Given the description of an element on the screen output the (x, y) to click on. 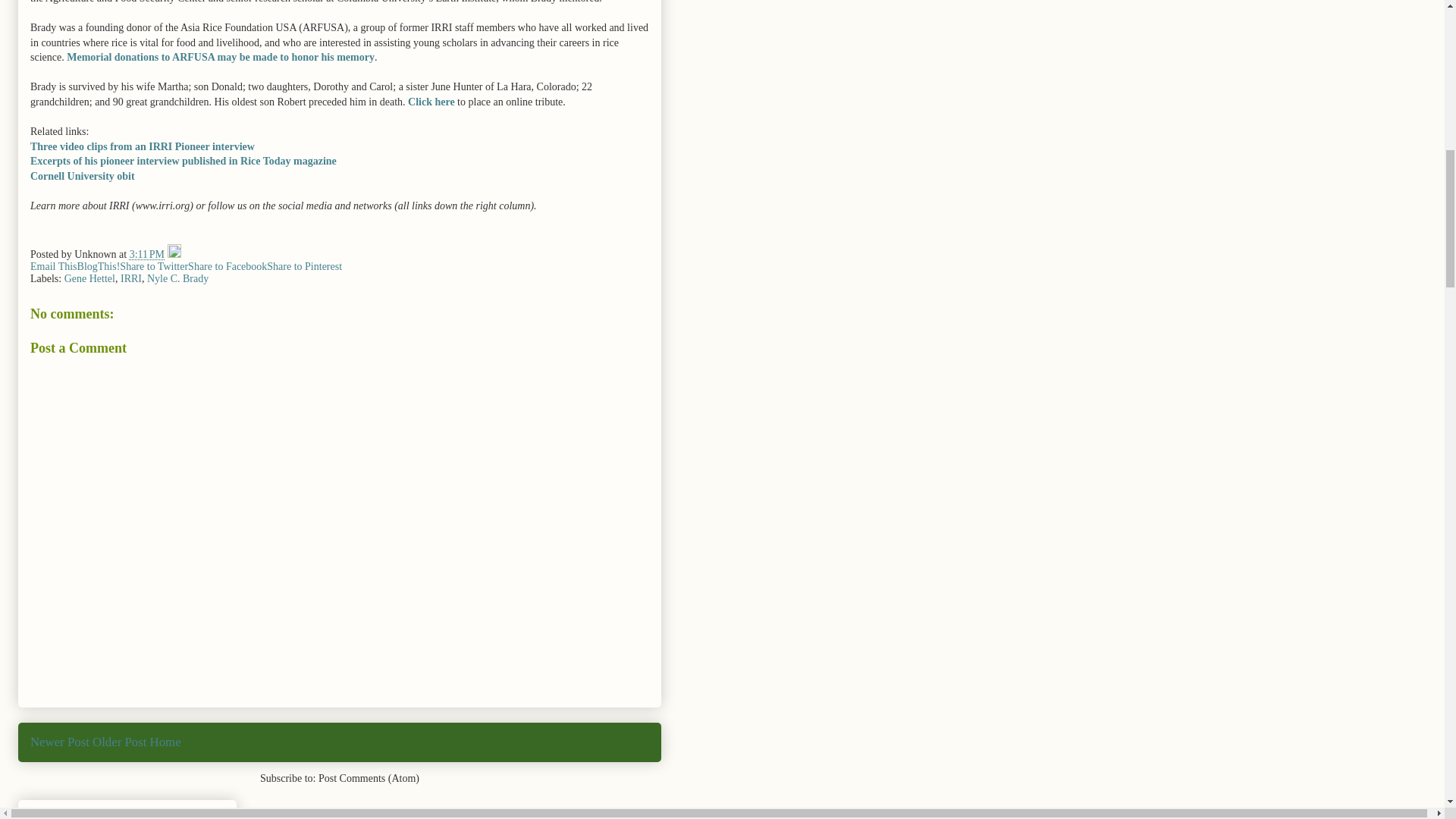
Nyle C. Brady (177, 278)
Email This (53, 266)
Newer Post (59, 741)
BlogThis! (98, 266)
Gene Hettel (89, 278)
Older Post (120, 741)
IRRI (130, 278)
Cornell University obit (82, 175)
permanent link (146, 254)
Share to Twitter (153, 266)
Memorial donations to ARFUSA may be made to honor his memory (220, 57)
Share to Pinterest (304, 266)
Email This (53, 266)
Share to Facebook (226, 266)
